Given the description of an element on the screen output the (x, y) to click on. 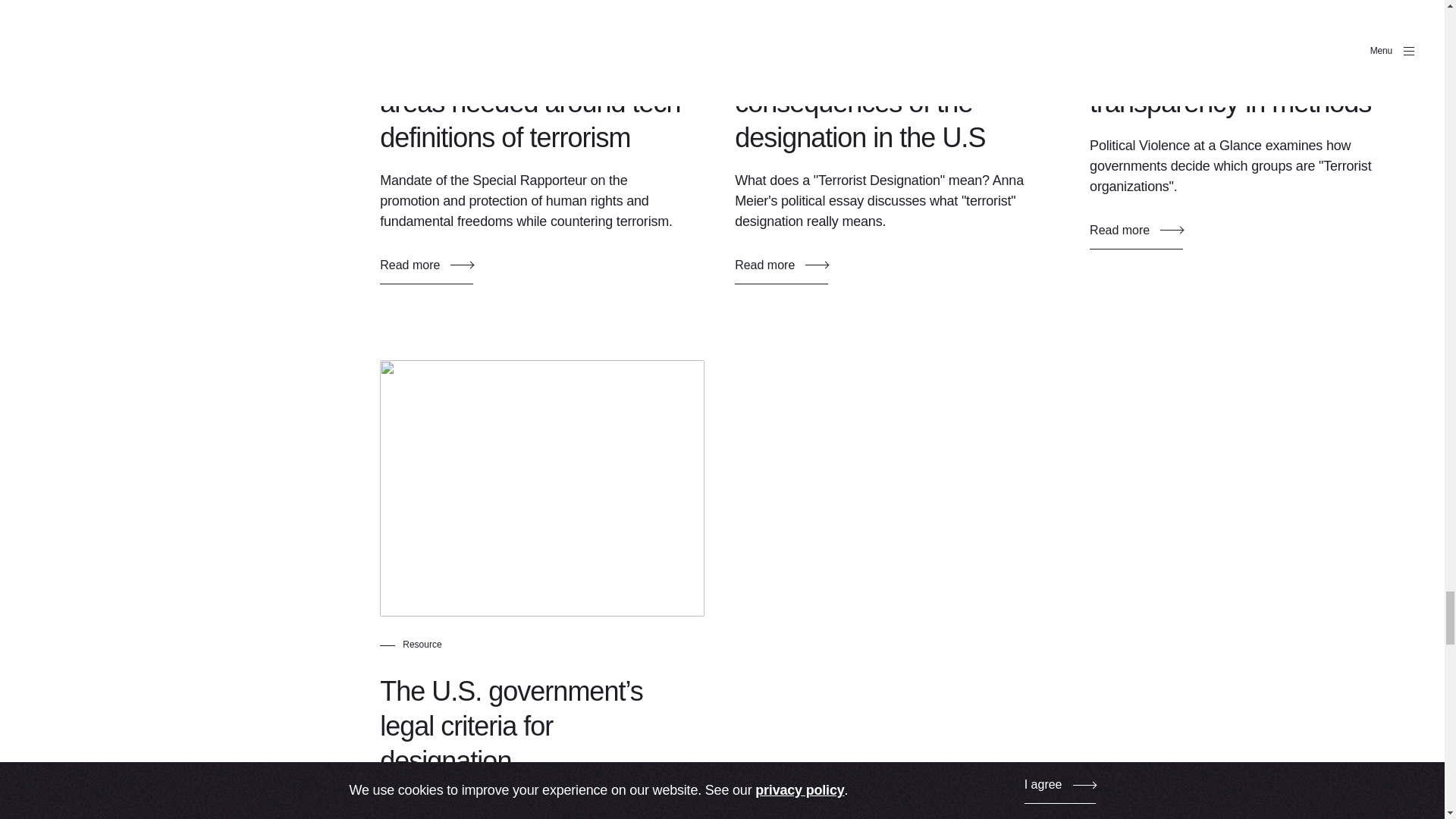
Read more (426, 270)
Read more (781, 270)
Read more (1135, 235)
